Given the description of an element on the screen output the (x, y) to click on. 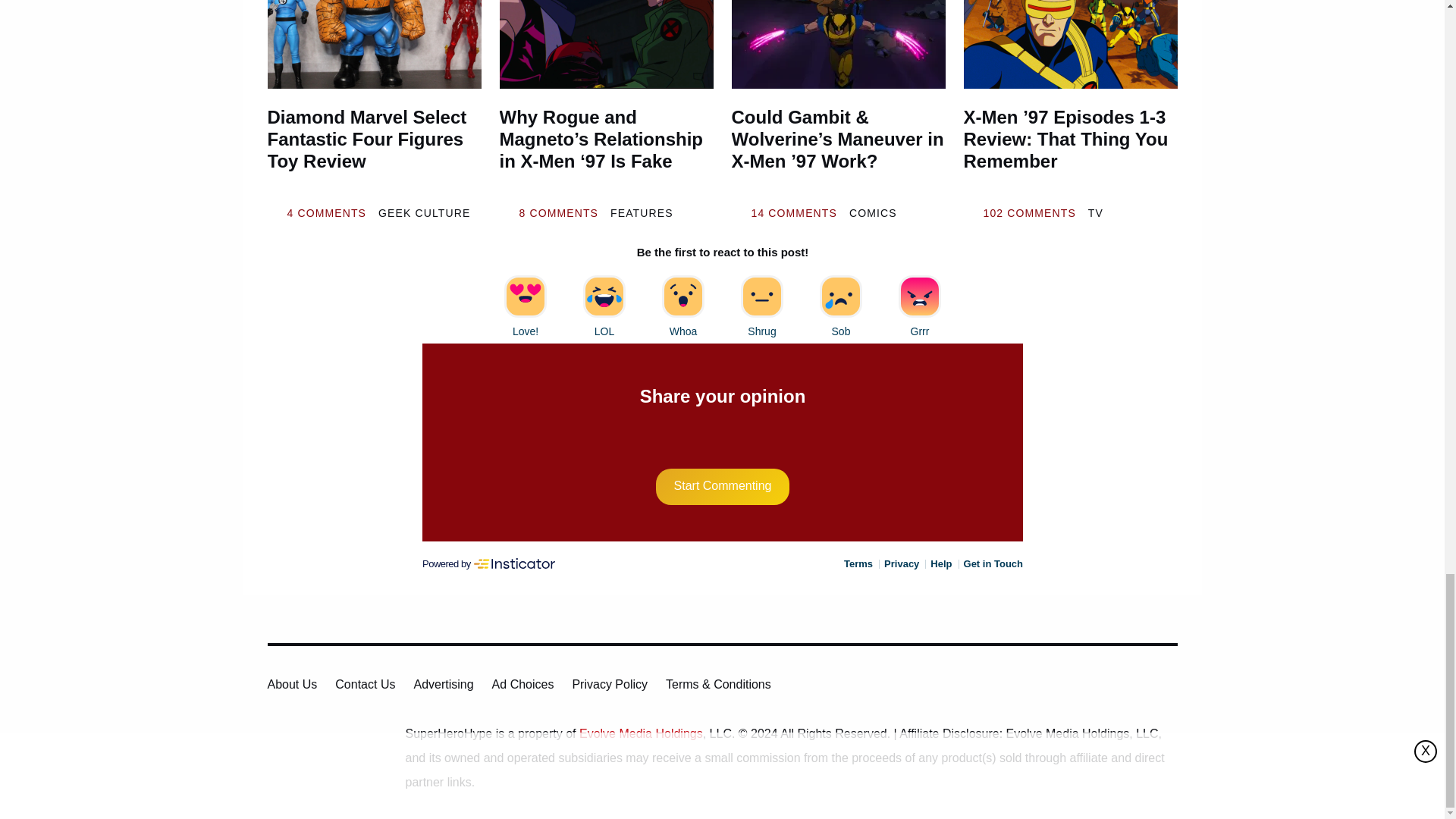
Diamond Marvel Select Fantastic Four Figures Toy Review (373, 150)
Diamond Marvel Select Fantastic Four Figures Toy Review (373, 44)
